Given the description of an element on the screen output the (x, y) to click on. 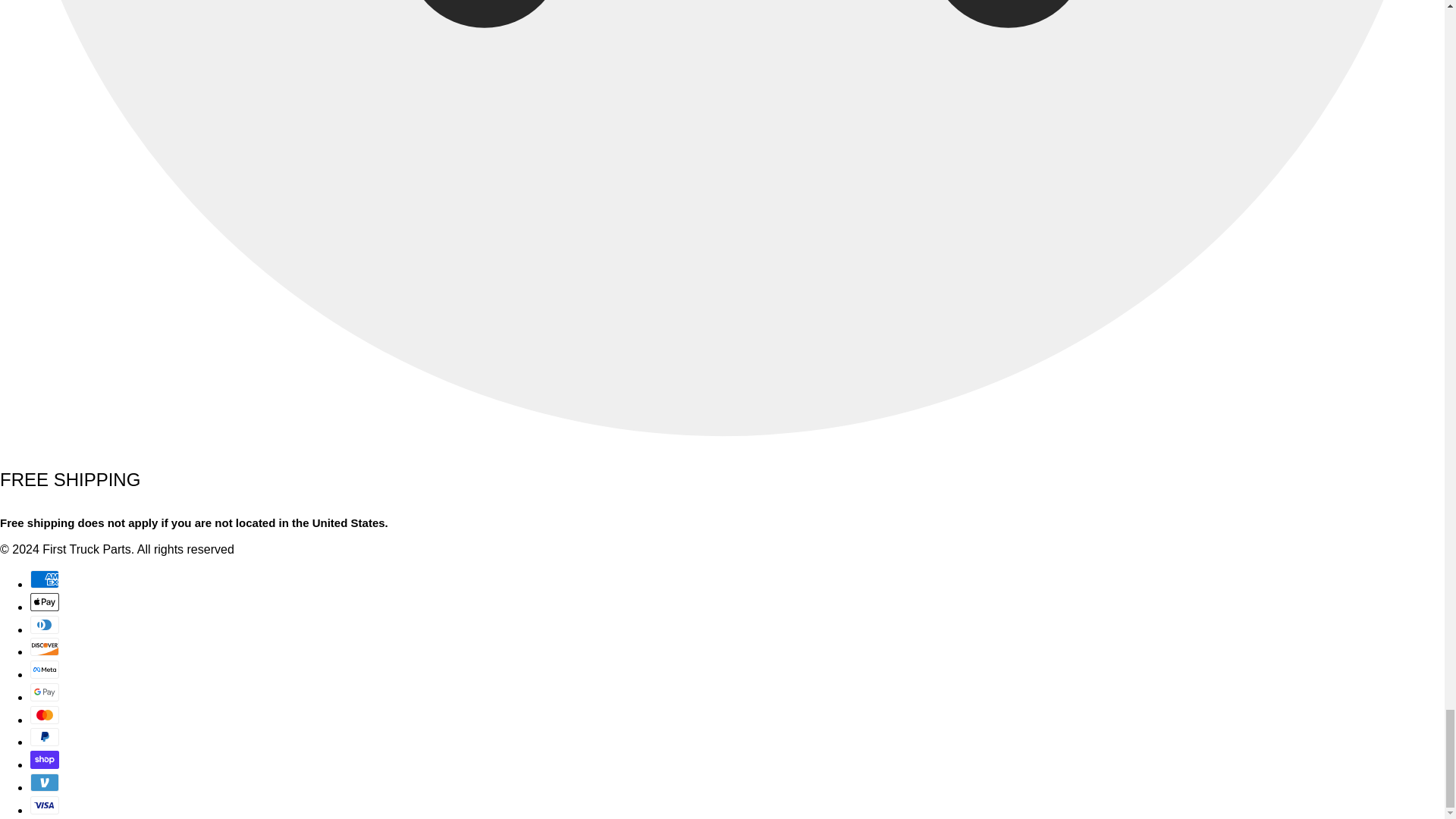
Apple Pay (44, 601)
American Express (44, 579)
Discover (44, 647)
Diners Club (44, 624)
